Given the description of an element on the screen output the (x, y) to click on. 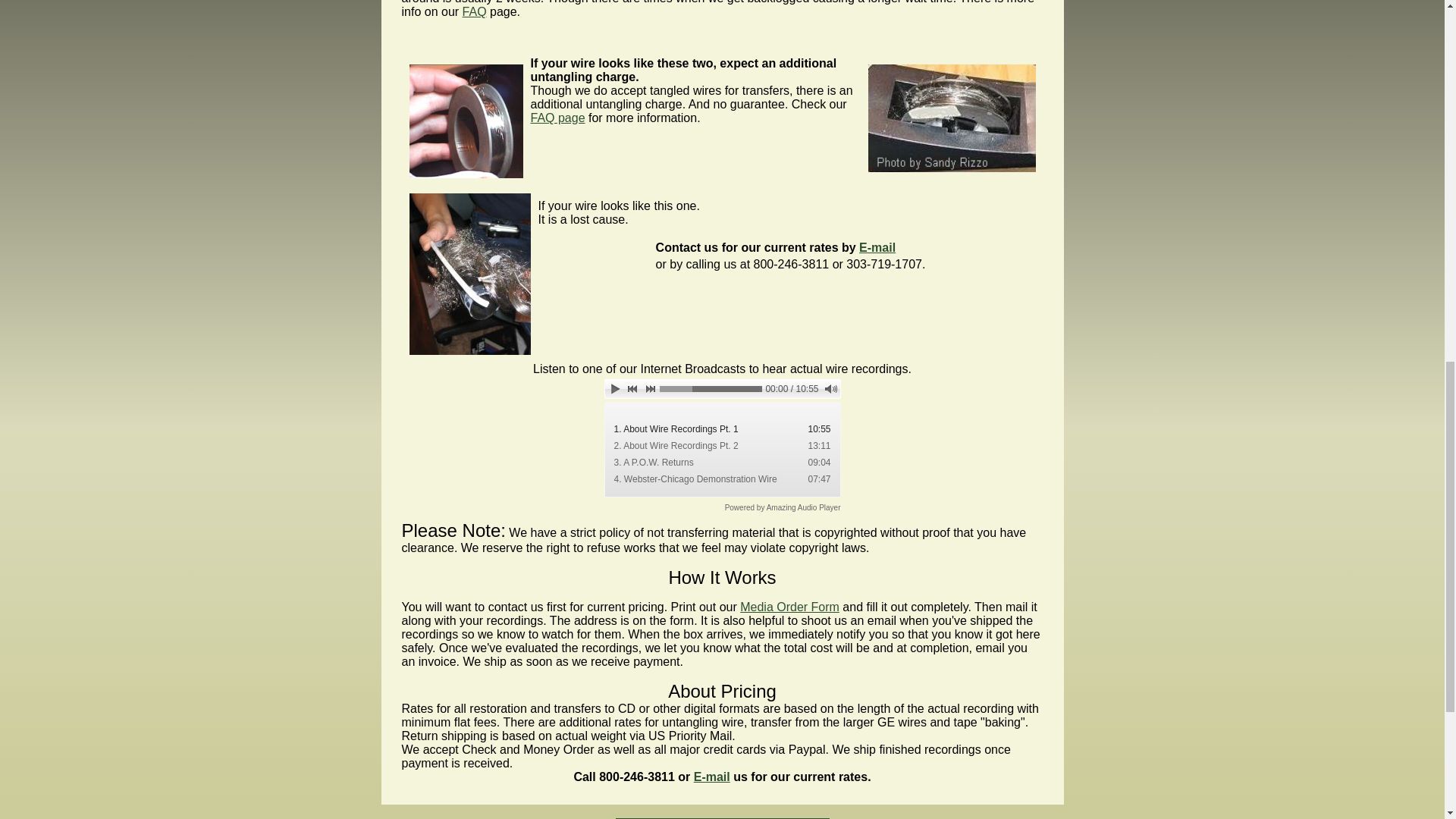
E-mail (712, 776)
FAQ page (558, 117)
Media Order Form (789, 606)
FAQ (474, 11)
E-mail (877, 246)
How It Works (722, 577)
Powered by Amazing Audio Player (783, 507)
